Given the description of an element on the screen output the (x, y) to click on. 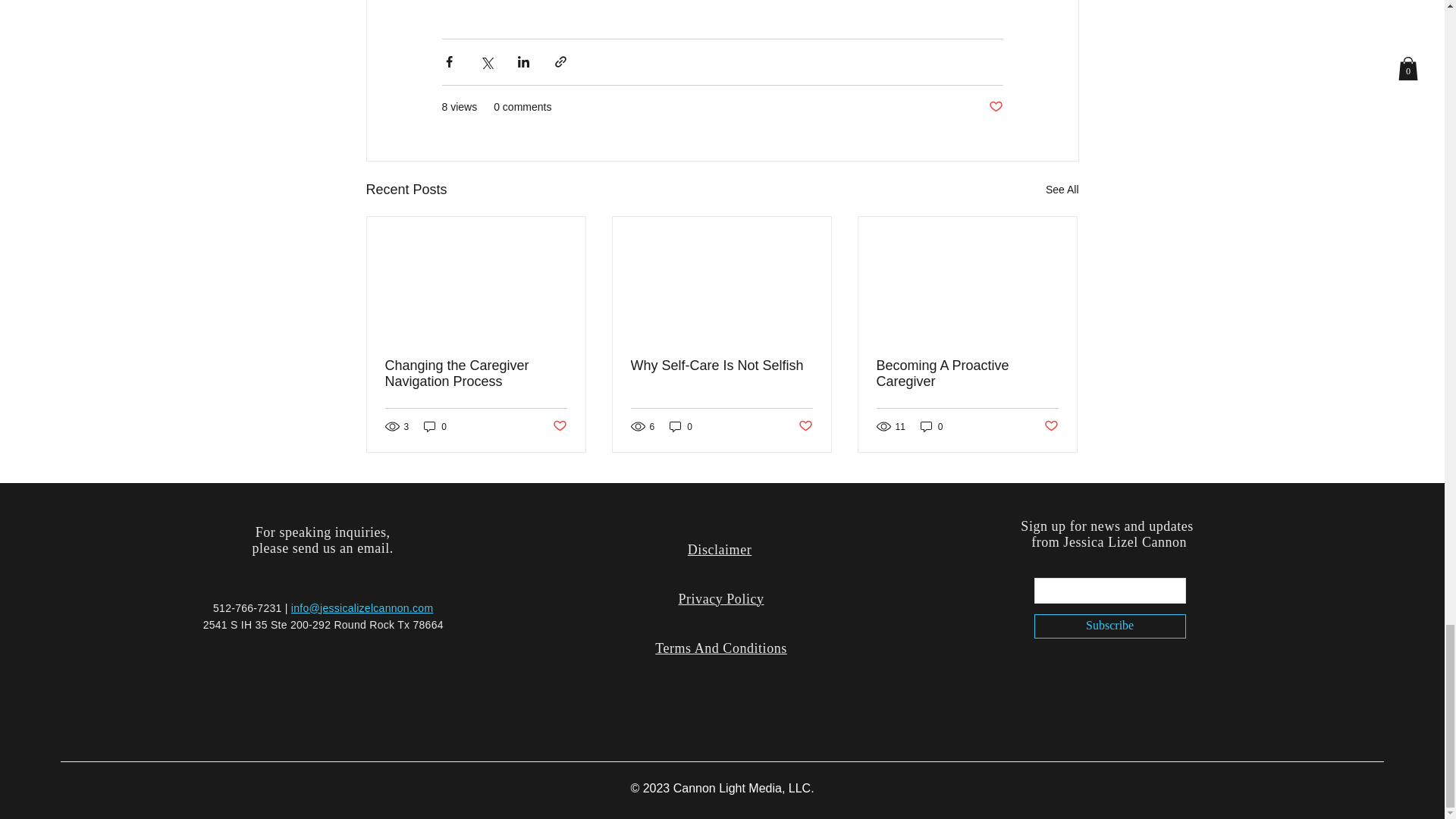
Why Self-Care Is Not Selfish (721, 365)
0 (681, 426)
0 (435, 426)
Changing the Caregiver Navigation Process (476, 373)
Post not marked as liked (804, 426)
Post not marked as liked (995, 107)
See All (1061, 188)
Post not marked as liked (558, 426)
Becoming A Proactive Caregiver (967, 373)
0 (931, 426)
Post not marked as liked (1050, 426)
